Given the description of an element on the screen output the (x, y) to click on. 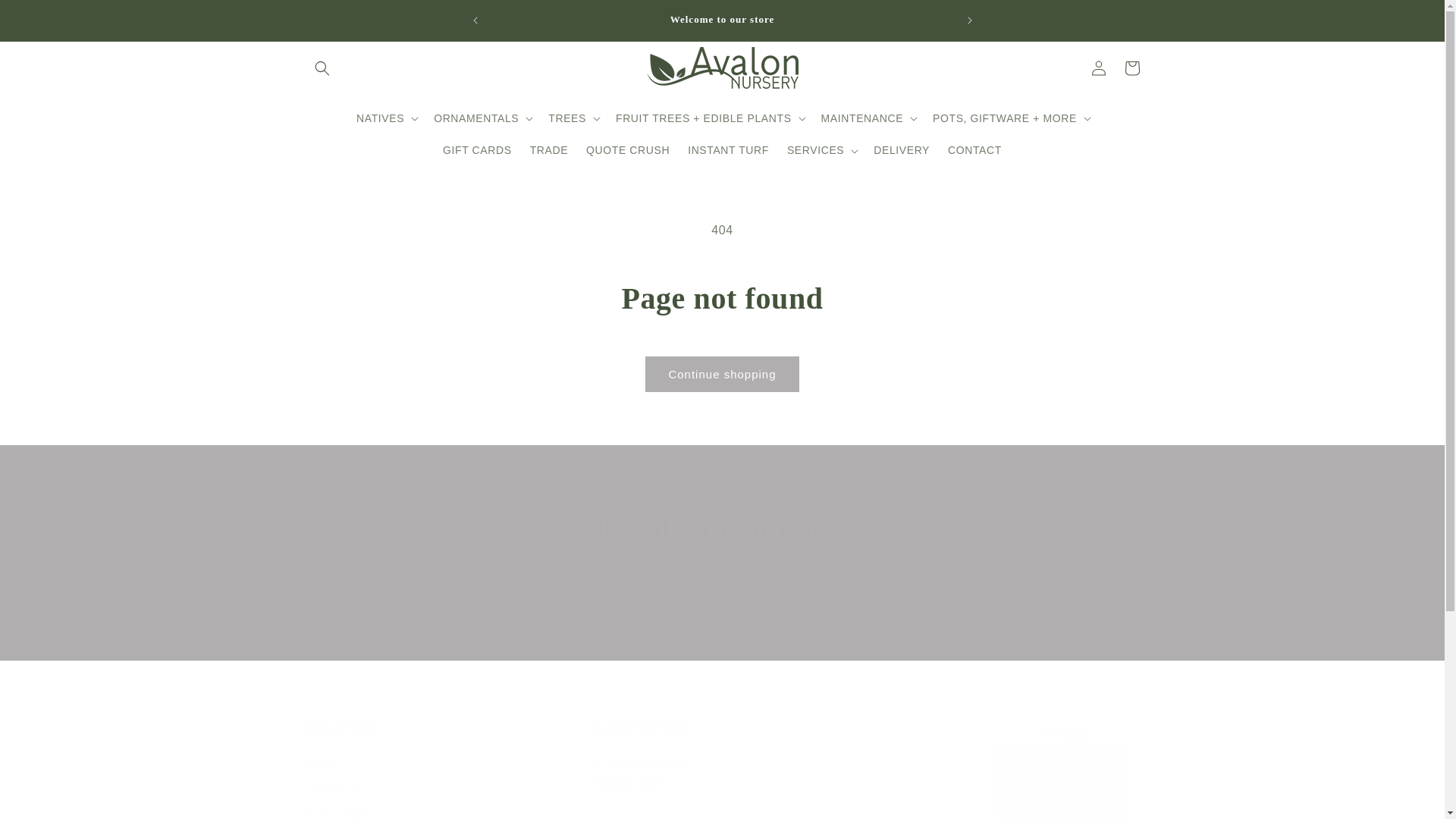
Email (722, 618)
Skip to content (45, 17)
Subscribe to our emails (721, 527)
